Given the description of an element on the screen output the (x, y) to click on. 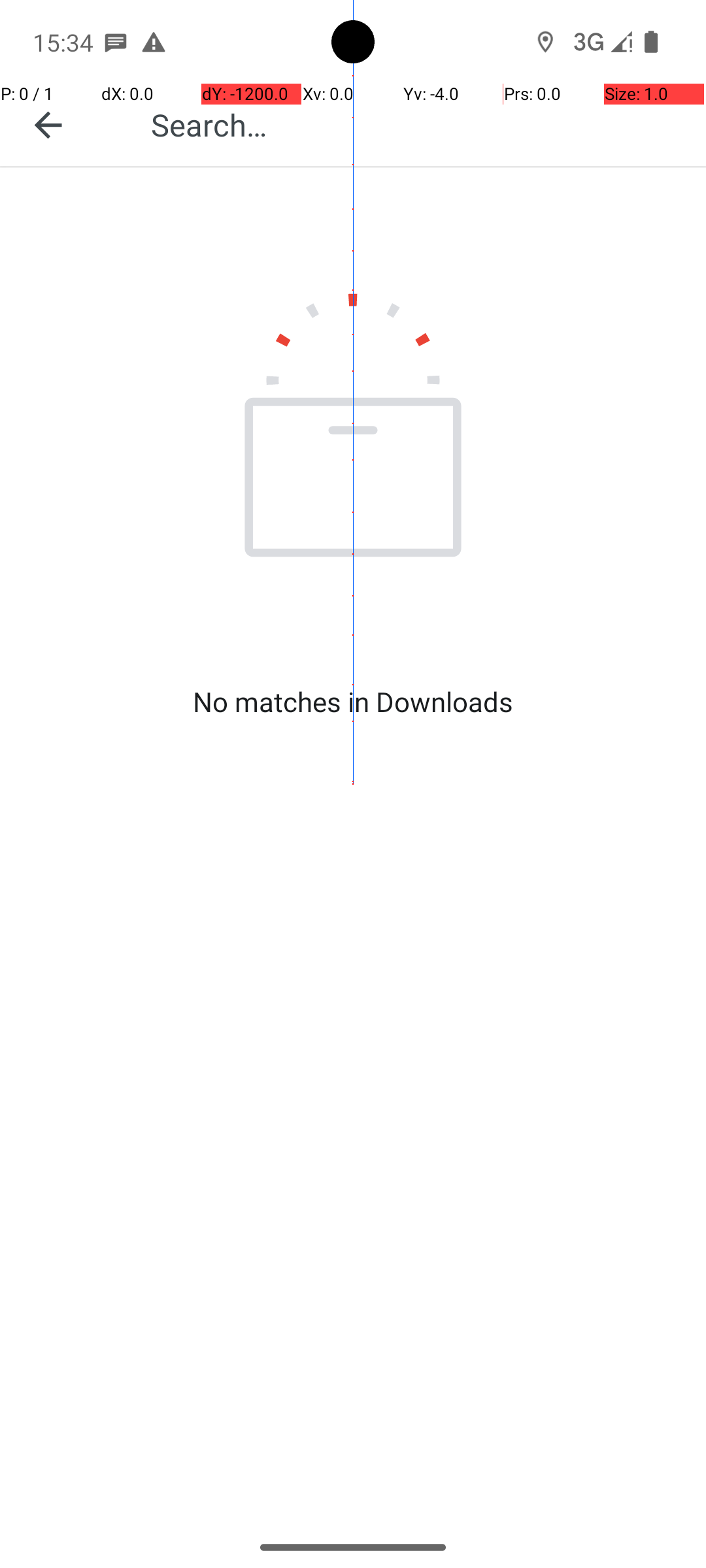
Files in Downloads Element type: android.widget.TextView (311, 125)
List view Element type: android.widget.TextView (622, 120)
Search… Element type: android.widget.AutoCompleteTextView (414, 124)
No matches in Downloads Element type: android.widget.TextView (352, 700)
